Given the description of an element on the screen output the (x, y) to click on. 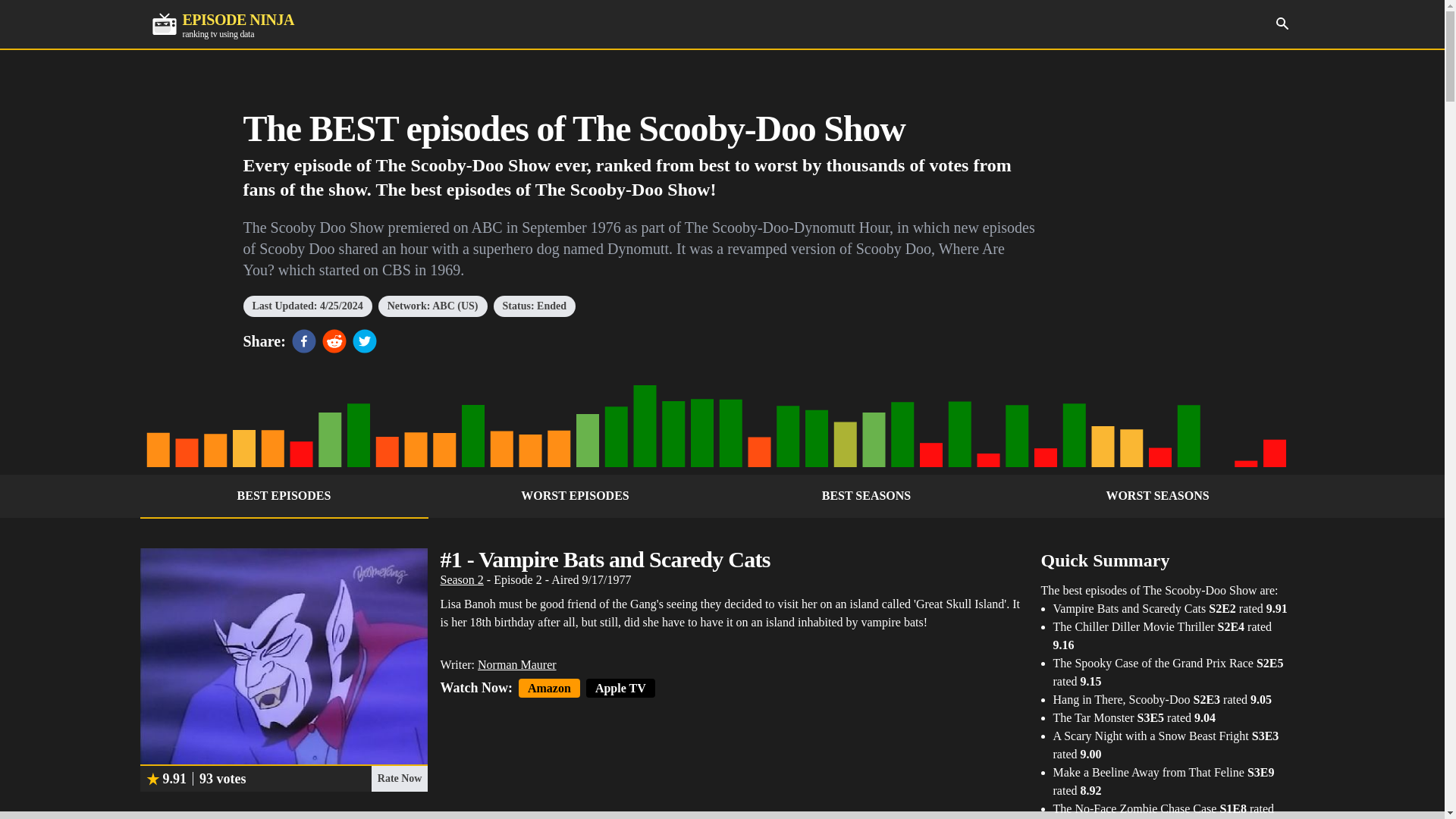
WORST SEASONS (1157, 495)
WORST EPISODES (574, 495)
Norman Maurer (516, 664)
BEST EPISODES (283, 496)
Apple TV (620, 687)
Rate Now (222, 24)
Search (399, 778)
BEST SEASONS (1281, 22)
Season 2 (866, 495)
Amazon (461, 579)
